Given the description of an element on the screen output the (x, y) to click on. 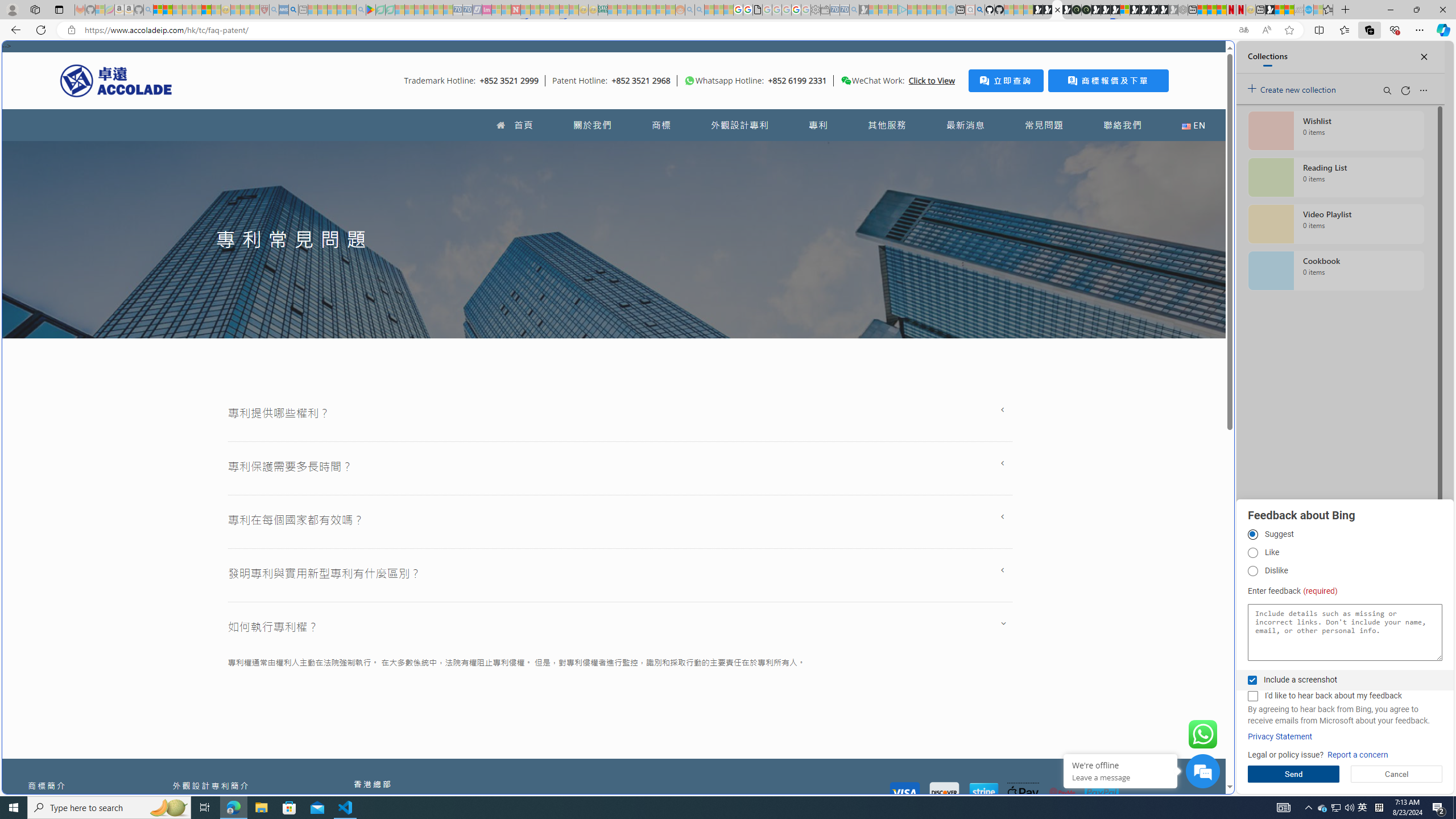
Close split screen (1208, 57)
